Given the description of an element on the screen output the (x, y) to click on. 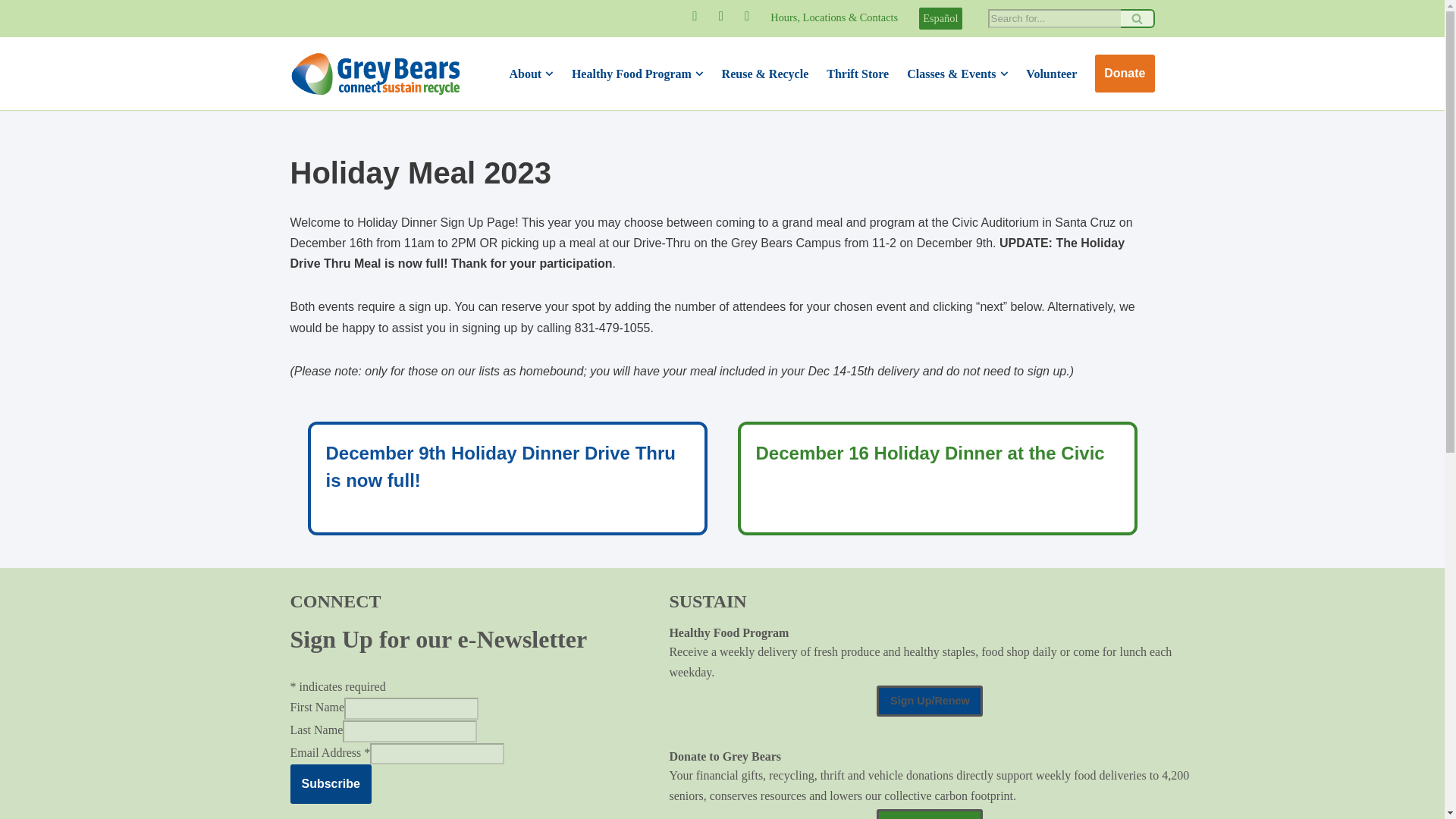
Healthy Food Program (631, 73)
Subscribe (330, 783)
Skip to content (11, 31)
Volunteer (1051, 73)
About (524, 73)
Thrift Store (857, 73)
Donate (1124, 73)
